Given the description of an element on the screen output the (x, y) to click on. 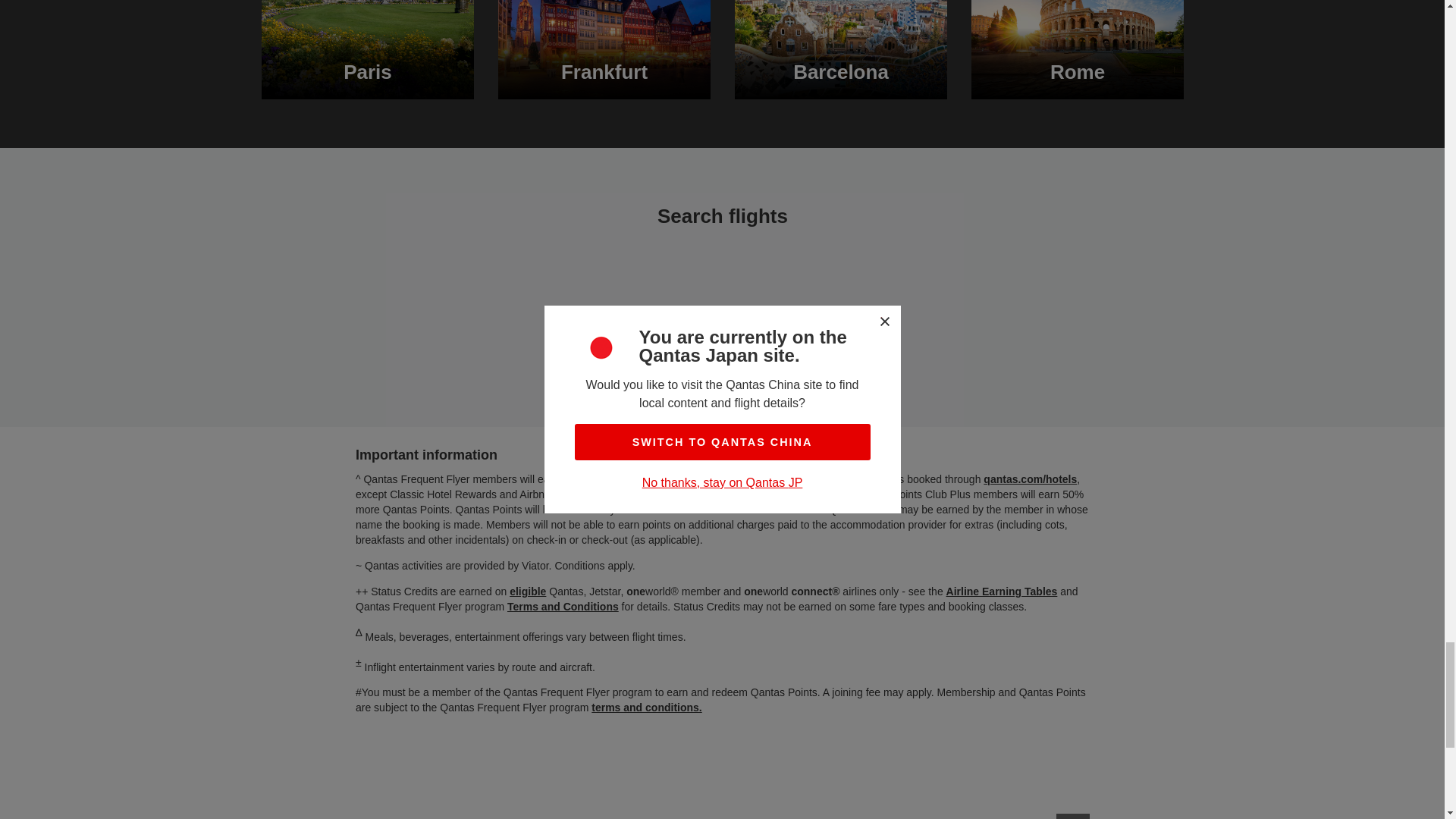
eligible (527, 591)
Terms and Conditions (561, 606)
Airline Earning Tables (1000, 591)
